Given the description of an element on the screen output the (x, y) to click on. 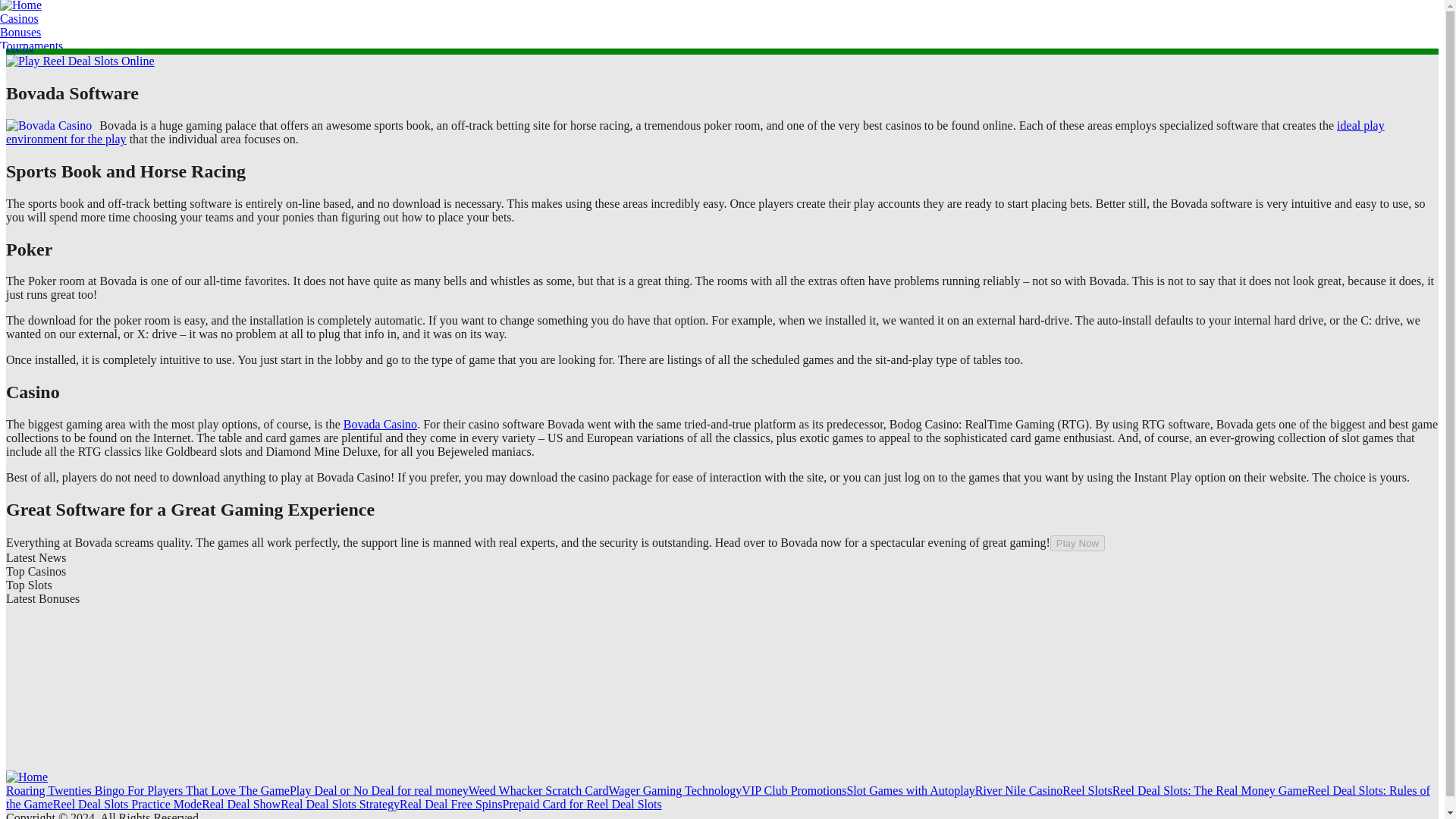
Slot Games with Autoplay (909, 789)
Reel Deal Slots: The Real Money Game (1209, 789)
Real Deal Show (241, 803)
Play Deal or No Deal for real money (378, 789)
Reel Deal Slots: Rules of the Game (717, 796)
River Nile Casino (1018, 789)
Wager Gaming Technology (674, 789)
Bonuses (34, 32)
VIP Club Promotions (793, 789)
Tournaments (34, 46)
